Given the description of an element on the screen output the (x, y) to click on. 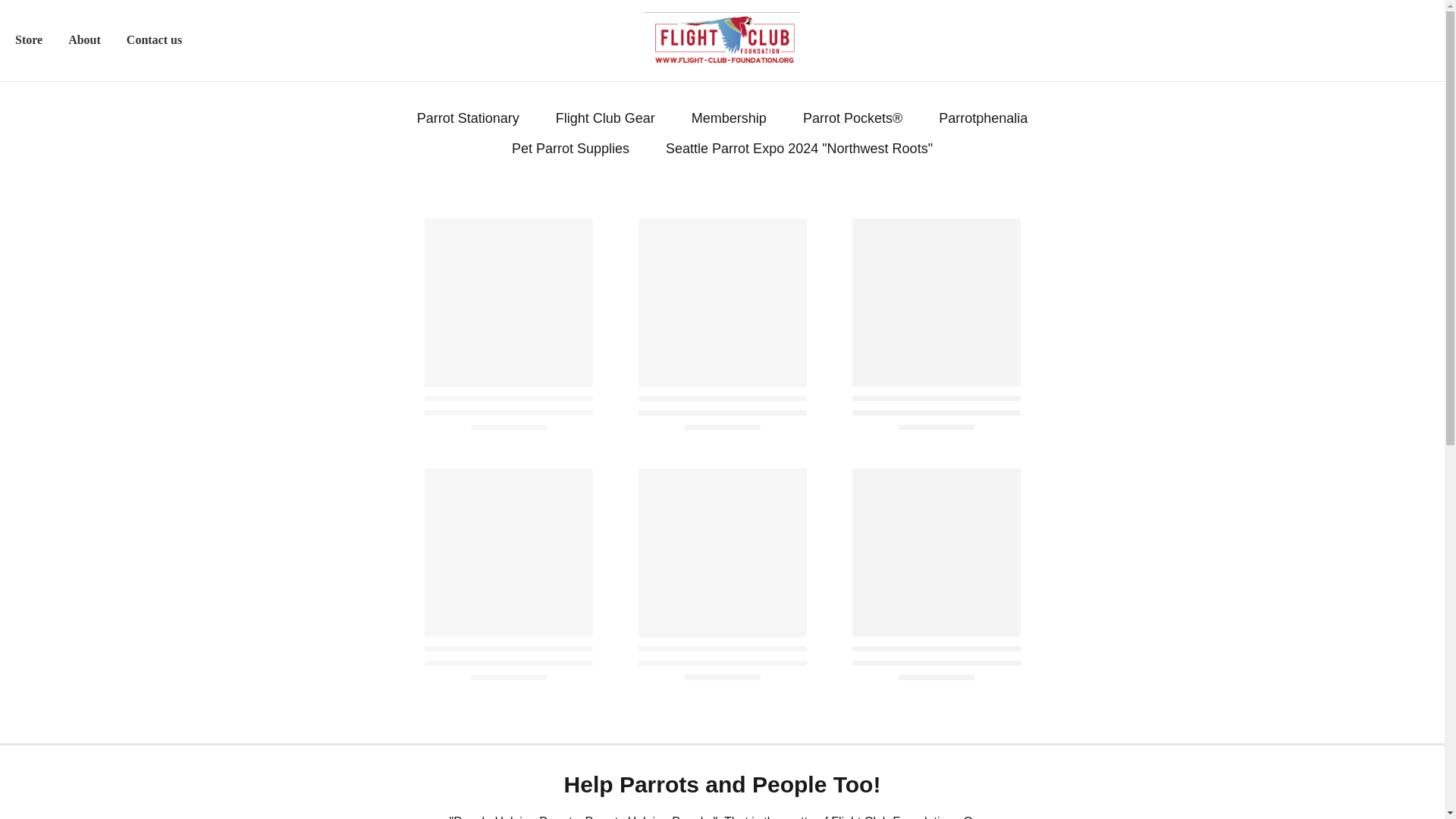
Parrot Stationary (467, 118)
Flight Club Gear (605, 118)
Store (28, 39)
Parrotphenalia (983, 118)
Membership (729, 118)
Pet Parrot Supplies (570, 148)
Seattle Parrot Expo 2024 "Northwest Roots" (799, 148)
Contact us (154, 39)
About (84, 39)
